Given the description of an element on the screen output the (x, y) to click on. 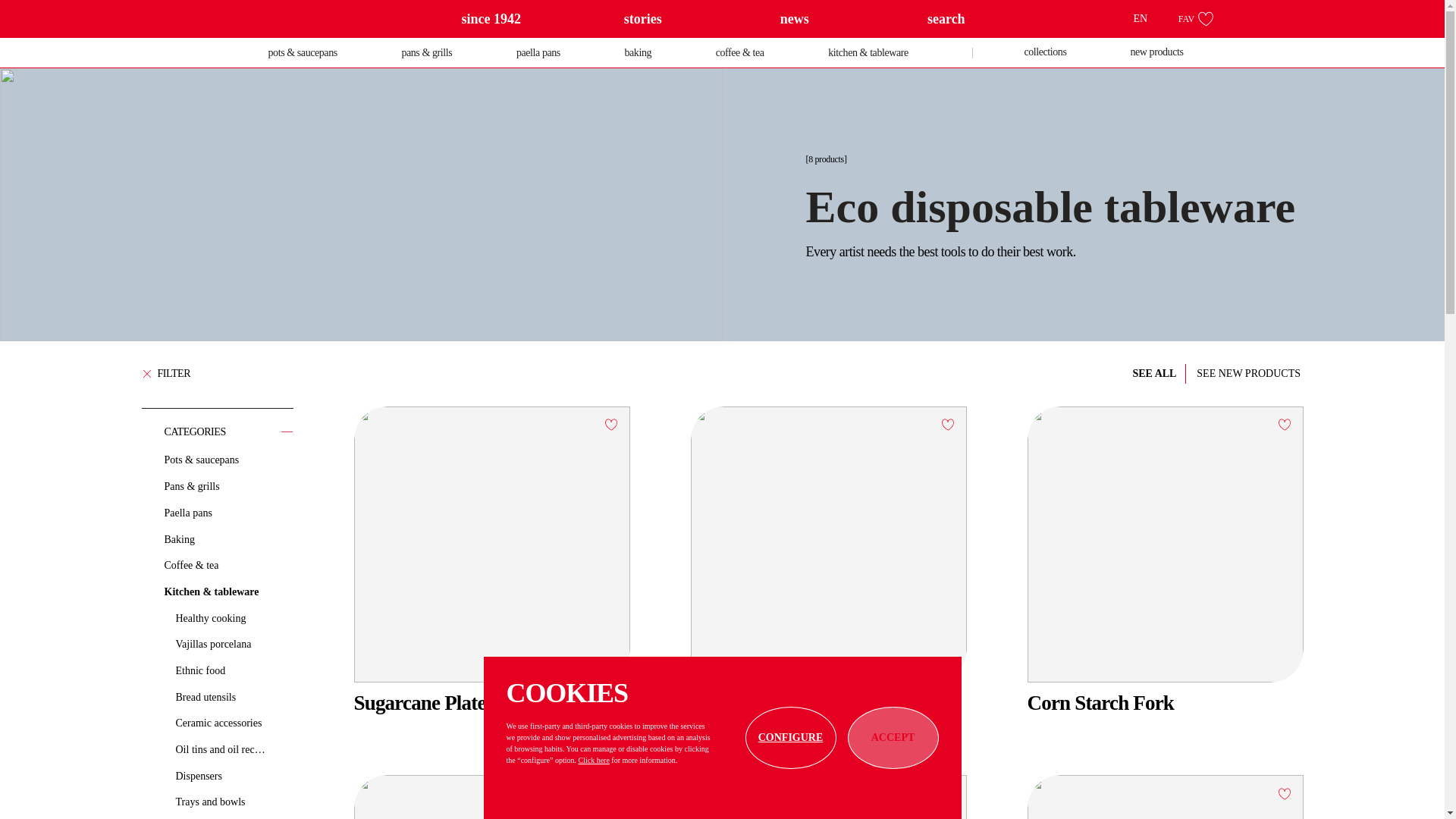
search (946, 18)
stories (643, 18)
FAV (1194, 18)
EN (1147, 18)
since 1942 (490, 18)
news (794, 18)
